Given the description of an element on the screen output the (x, y) to click on. 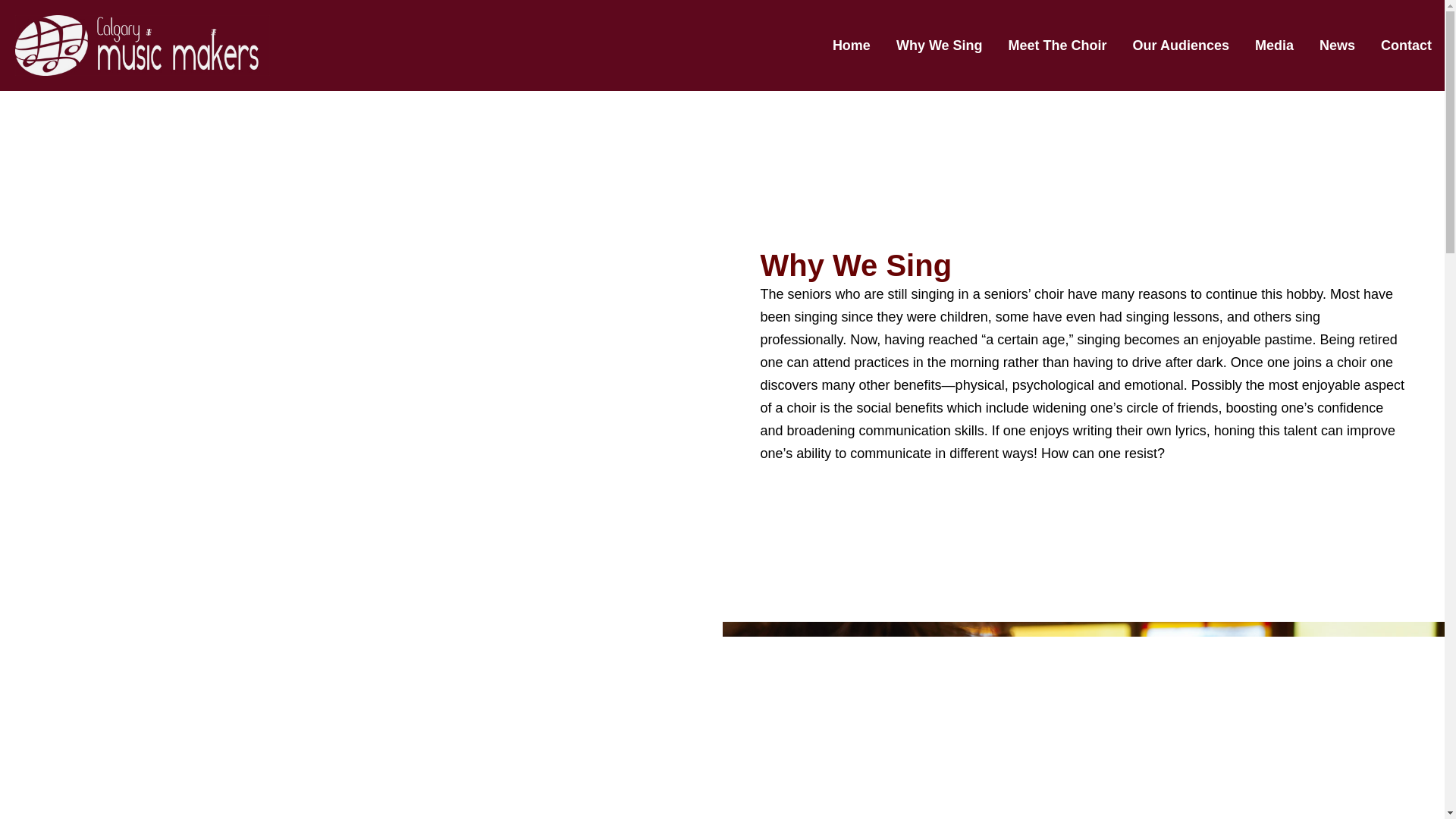
Our Audiences (1180, 45)
Why We Sing (939, 45)
Calgary Music Makers (141, 45)
Meet The Choir (1057, 45)
